Given the description of an element on the screen output the (x, y) to click on. 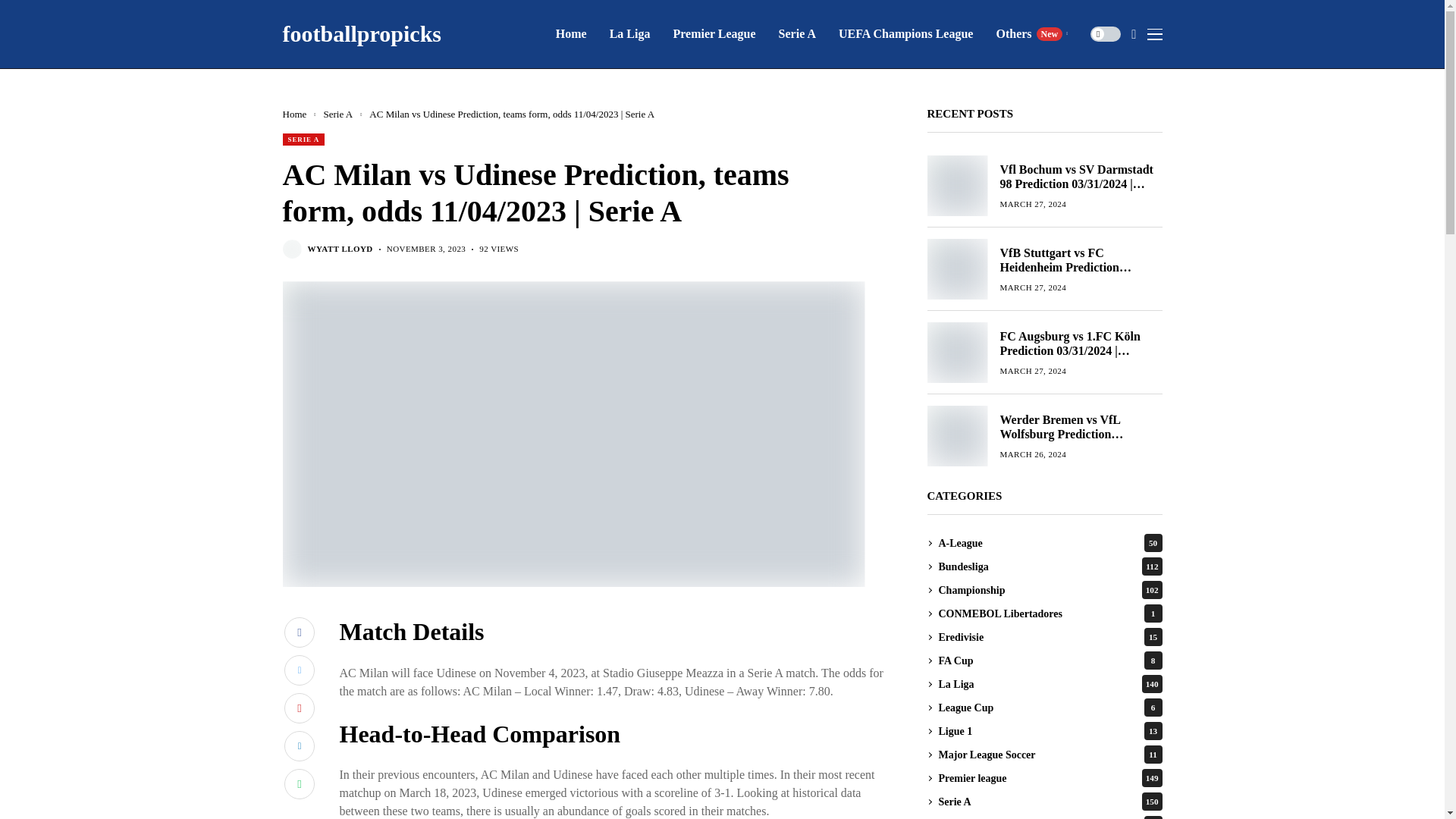
Posts by Wyatt Lloyd (339, 248)
UEFA Champions League (906, 33)
Premier League (713, 33)
footballpropicks (1031, 33)
